Given the description of an element on the screen output the (x, y) to click on. 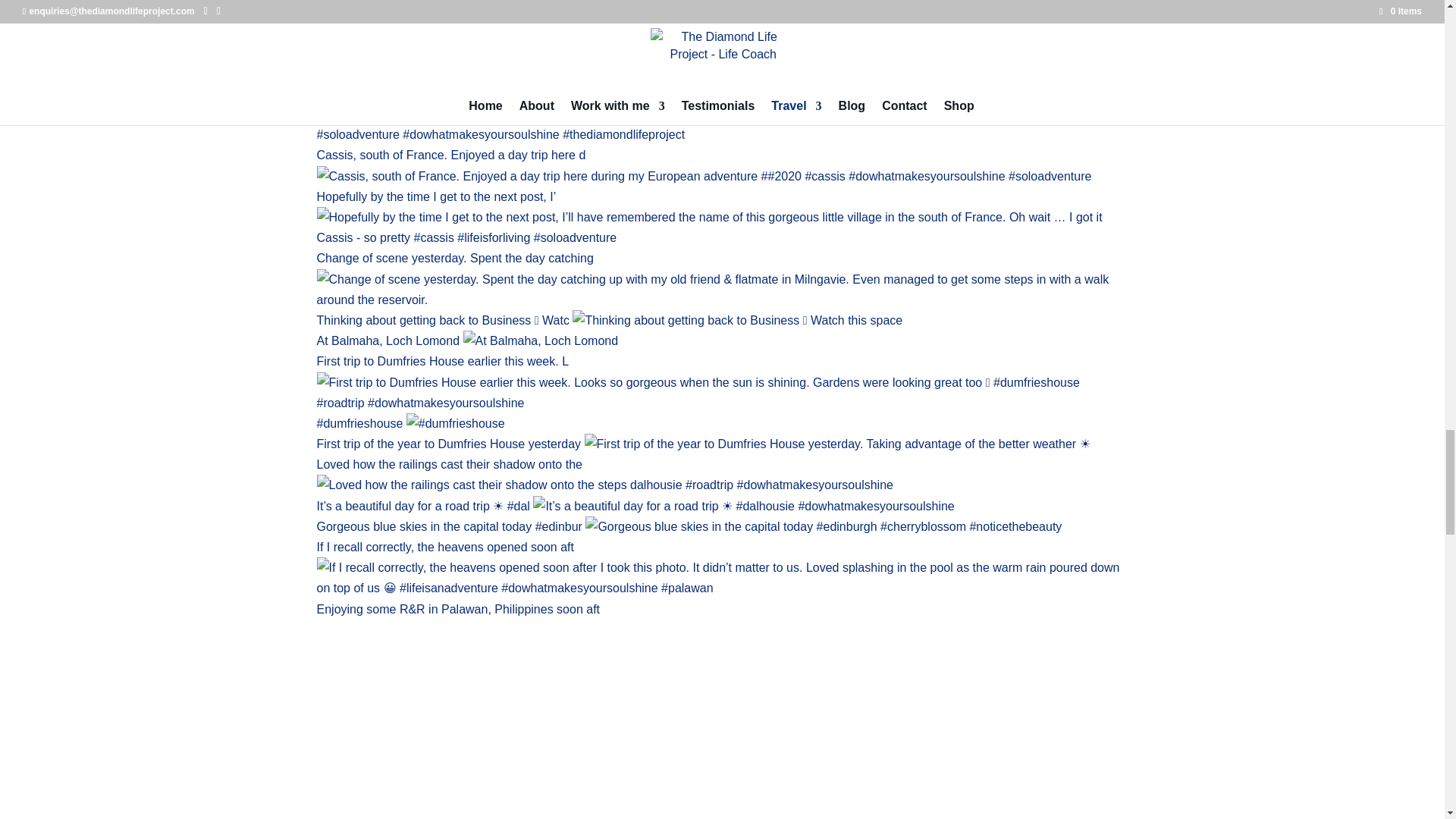
First trip to Dumfries House earlier this week. L (722, 381)
First trip of the year to Dumfries House yesterday (703, 443)
At Balmaha, Loch Lomond (467, 340)
Change of scene yesterday. Spent the day catching (722, 278)
Cassis, south of France. Enjoyed a day trip here d (704, 164)
Loved how the railings cast their shadow onto the (605, 474)
